Given the description of an element on the screen output the (x, y) to click on. 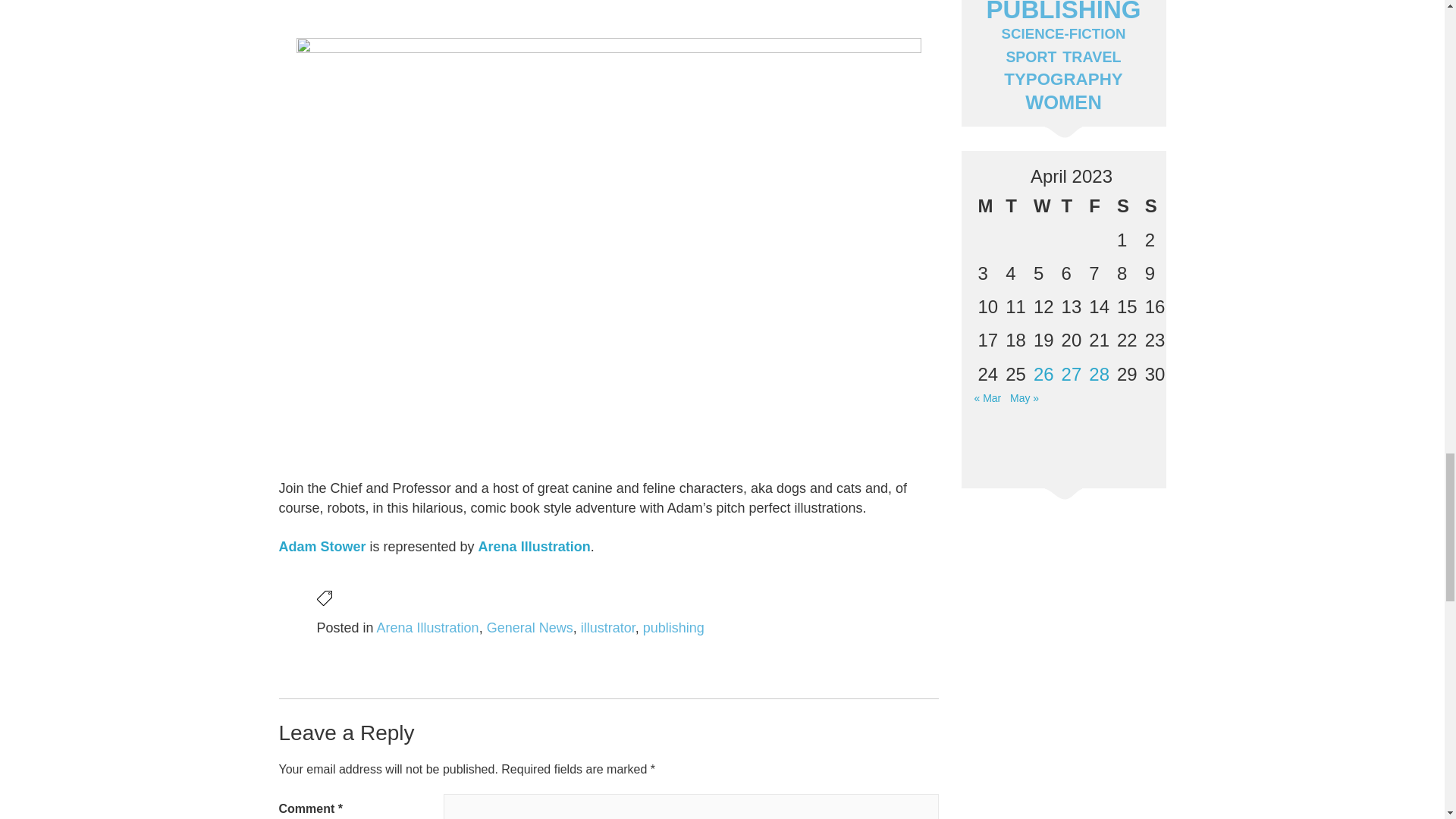
Adam Stower (322, 546)
General News (529, 627)
Arena Illustration (535, 546)
Arena Illustration (428, 627)
publishing (673, 627)
illustrator (607, 627)
